Given the description of an element on the screen output the (x, y) to click on. 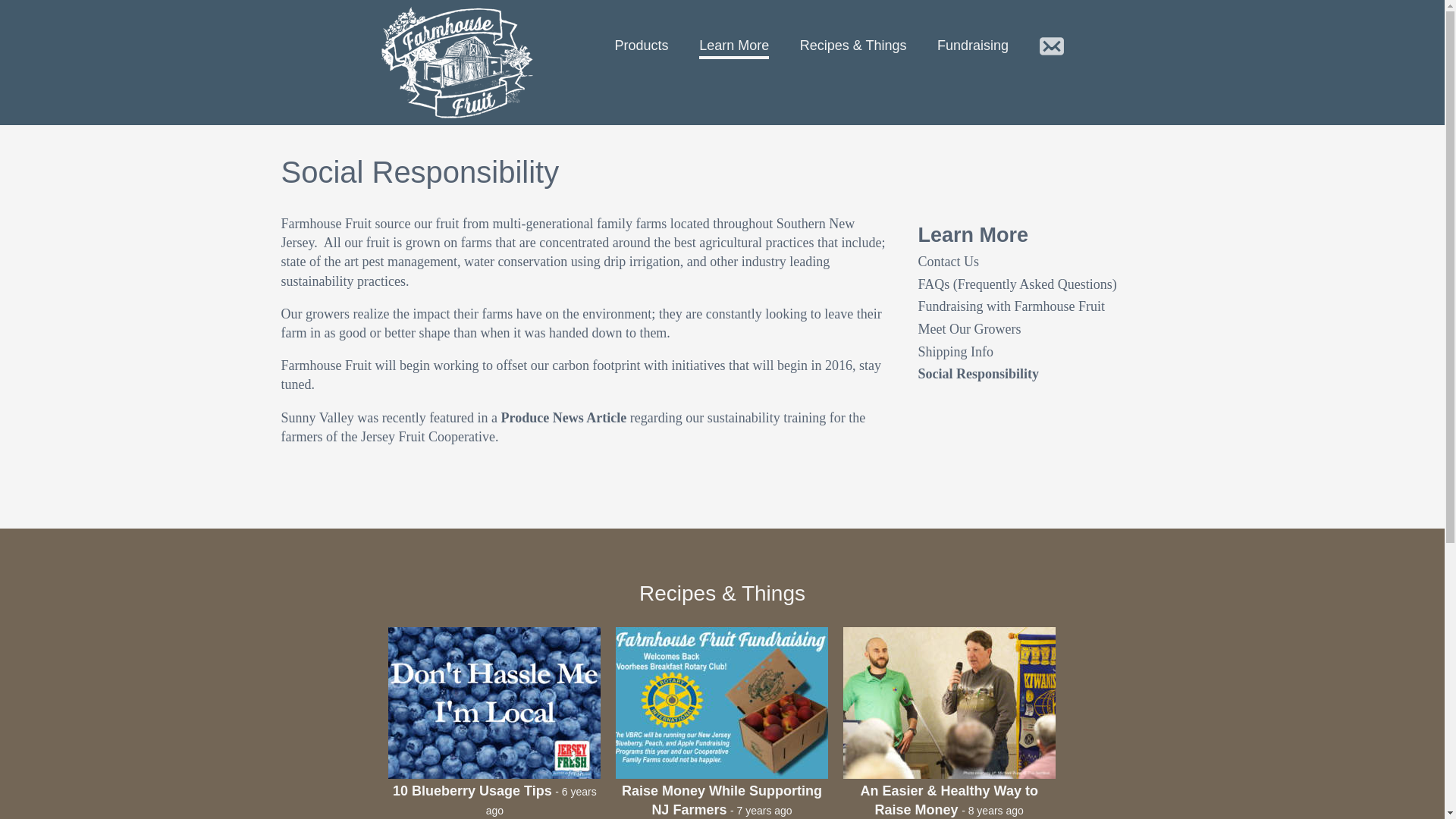
Products (641, 47)
Social Responsibility (978, 375)
Learn More (972, 237)
Produce News Article (563, 418)
Learn More (733, 47)
Produce News Article (563, 418)
Shipping Info (954, 354)
Fundraising with Farmhouse Fruit (1011, 308)
Contact Us (947, 263)
Fundraising (973, 47)
